Given the description of an element on the screen output the (x, y) to click on. 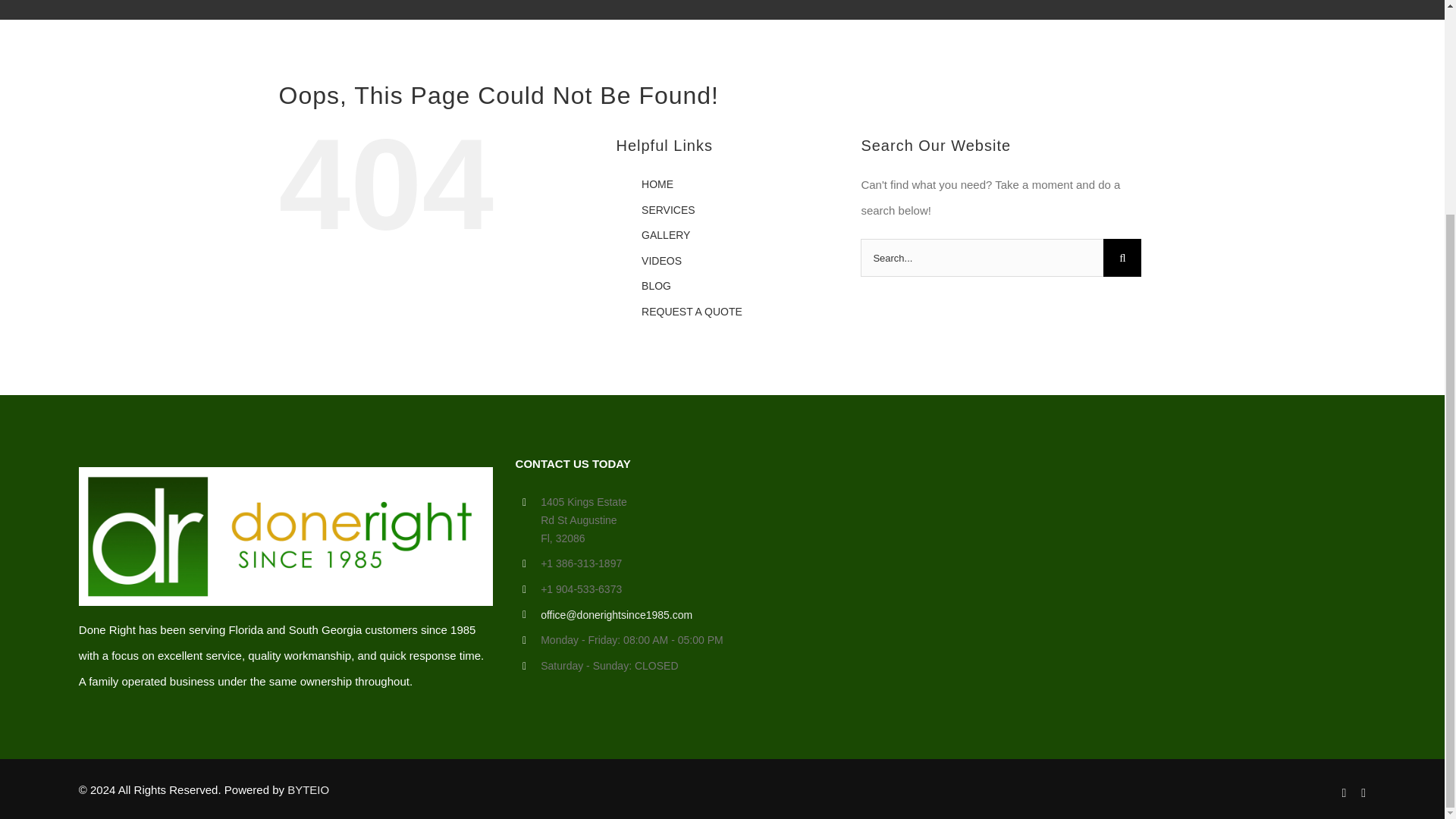
GALLERY (666, 234)
BLOG (656, 285)
HOME (657, 184)
REQUEST A QUOTE (692, 311)
SERVICES (668, 209)
BYTEIO (307, 789)
VIDEOS (661, 260)
